Given the description of an element on the screen output the (x, y) to click on. 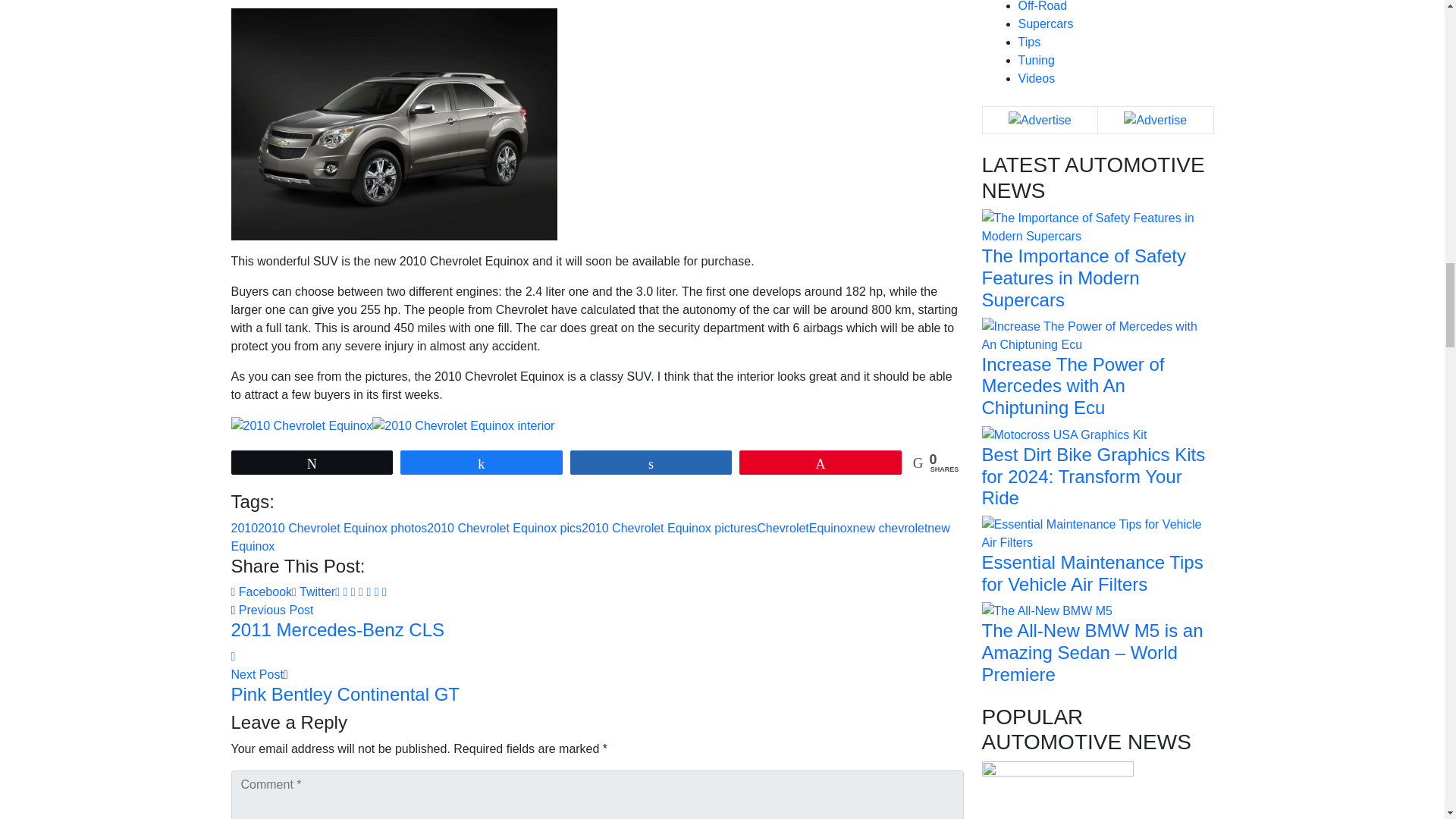
Advertise (1040, 119)
The Importance of Safety Features in Modern Supercars (1096, 226)
Essential Maintenance Tips for Vehicle Air Filters (1096, 532)
Advertise (1155, 119)
Best Dirt Bike Graphics Kits for 2024: Transform Your Ride (1064, 433)
Increase The Power of Mercedes with An Chiptuning Ecu (1096, 334)
